Given the description of an element on the screen output the (x, y) to click on. 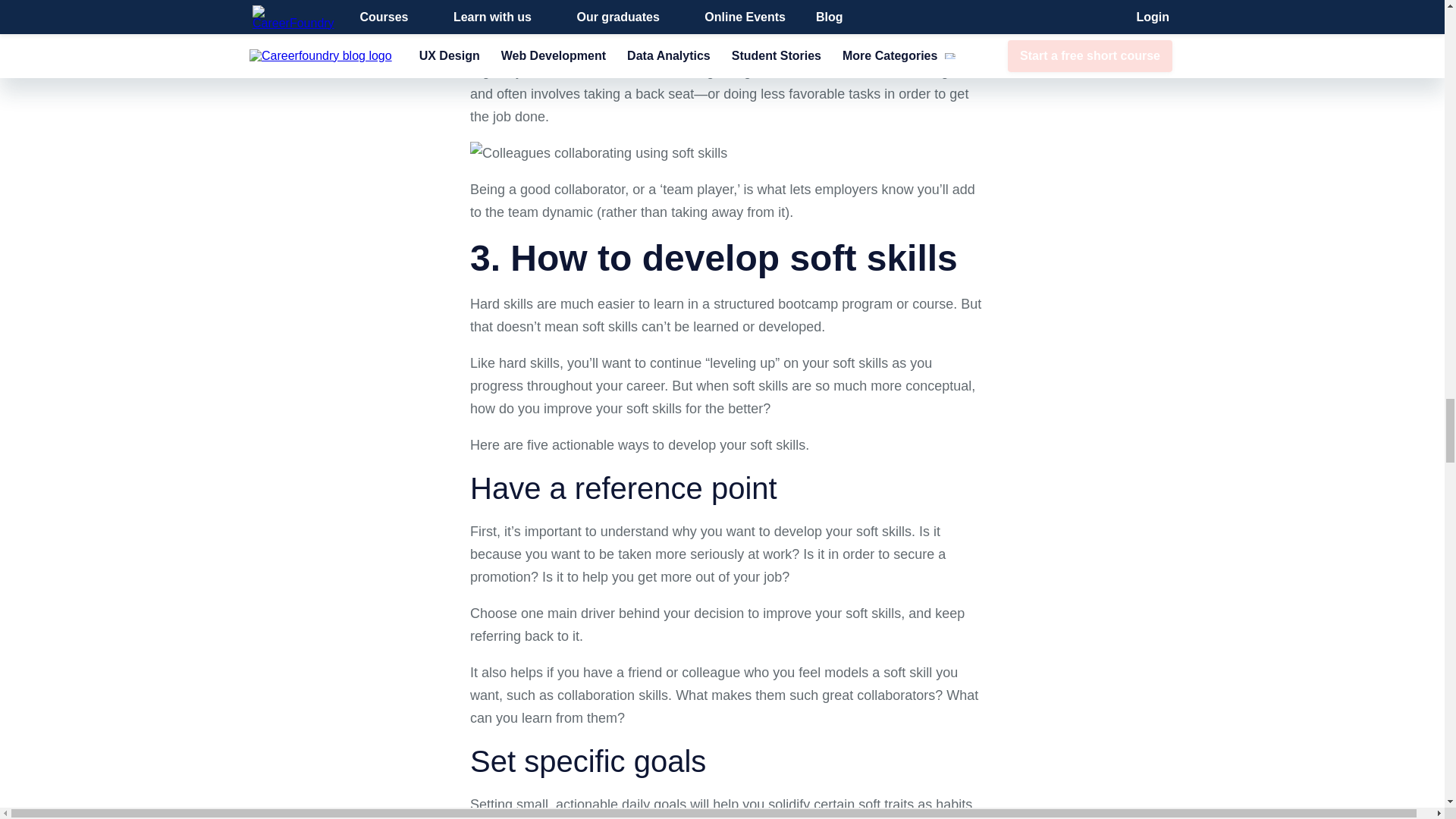
Softer Skills (598, 152)
